Given the description of an element on the screen output the (x, y) to click on. 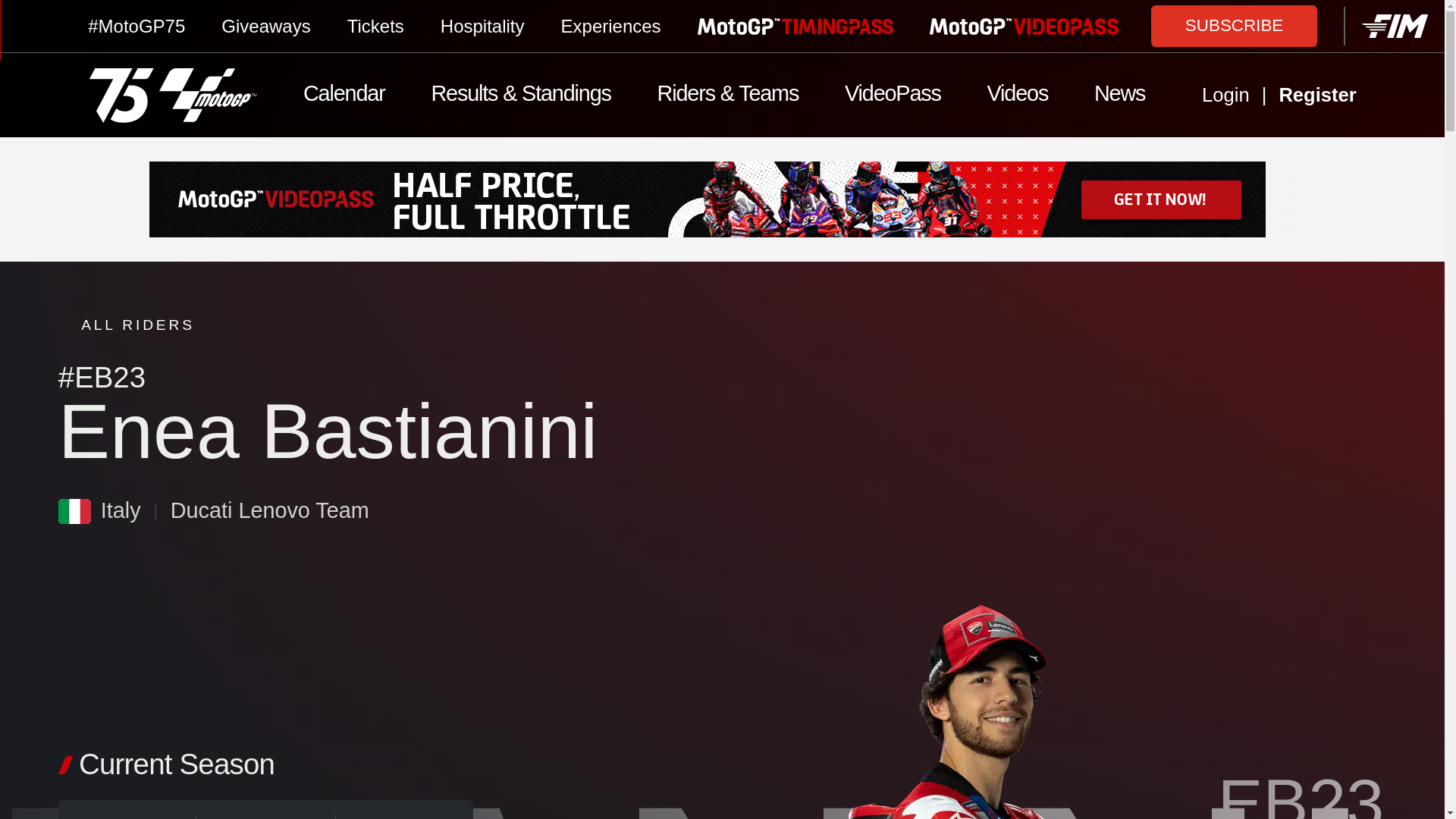
Login (1225, 95)
Videos (1016, 94)
Register (1342, 95)
Hospitality (482, 26)
News (1119, 94)
SUBSCRIBE (1234, 24)
3rd party ad content (721, 199)
Giveaways (265, 26)
VideoPass (893, 94)
Experiences (610, 26)
Calendar (343, 94)
Tickets (375, 26)
